Given the description of an element on the screen output the (x, y) to click on. 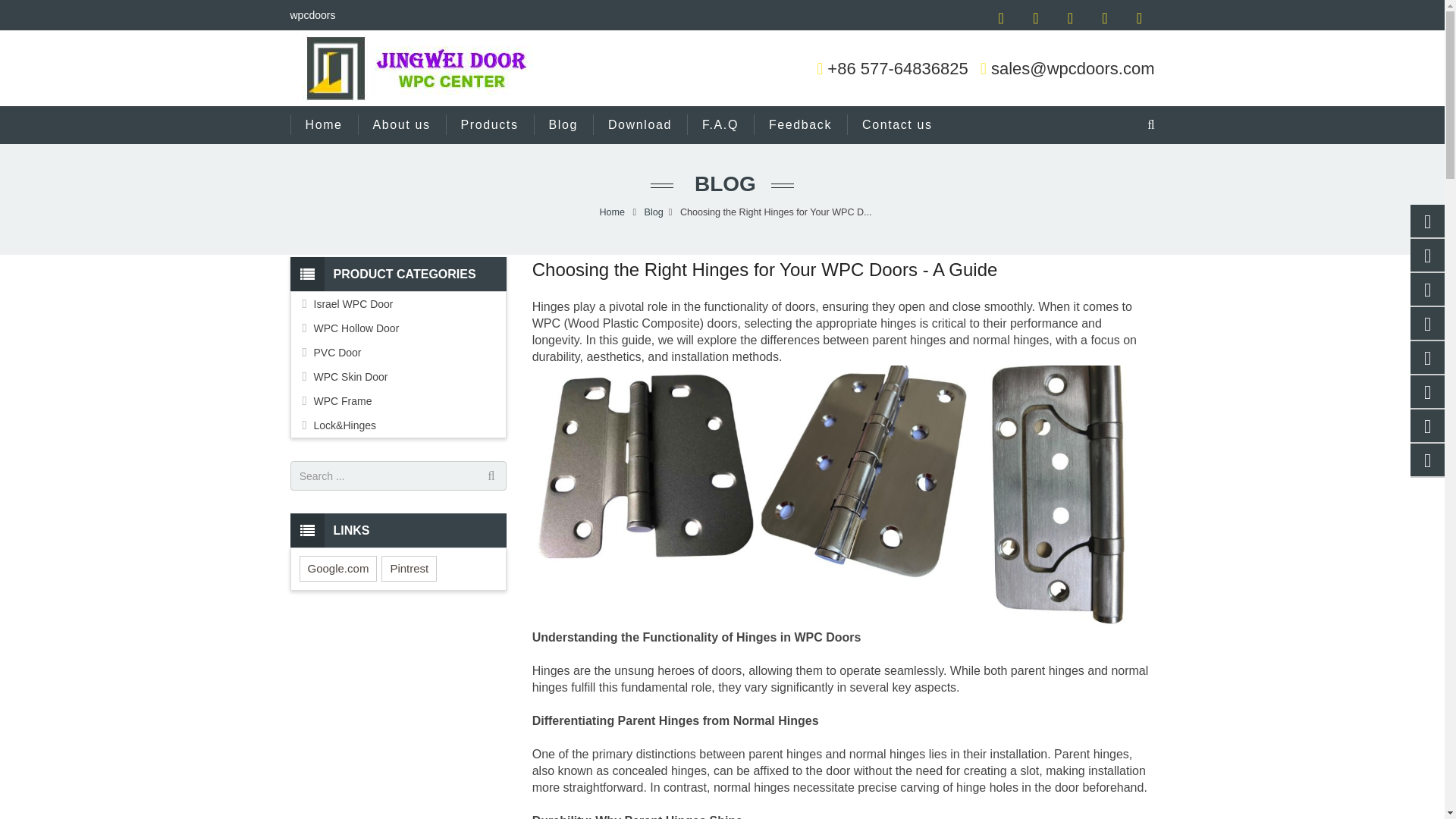
Products (489, 125)
Products (489, 125)
Home (322, 125)
Download (639, 125)
About us (401, 125)
Download (639, 125)
Blog (563, 125)
Feedback (800, 125)
Contact us (897, 125)
About us (401, 125)
